Given the description of an element on the screen output the (x, y) to click on. 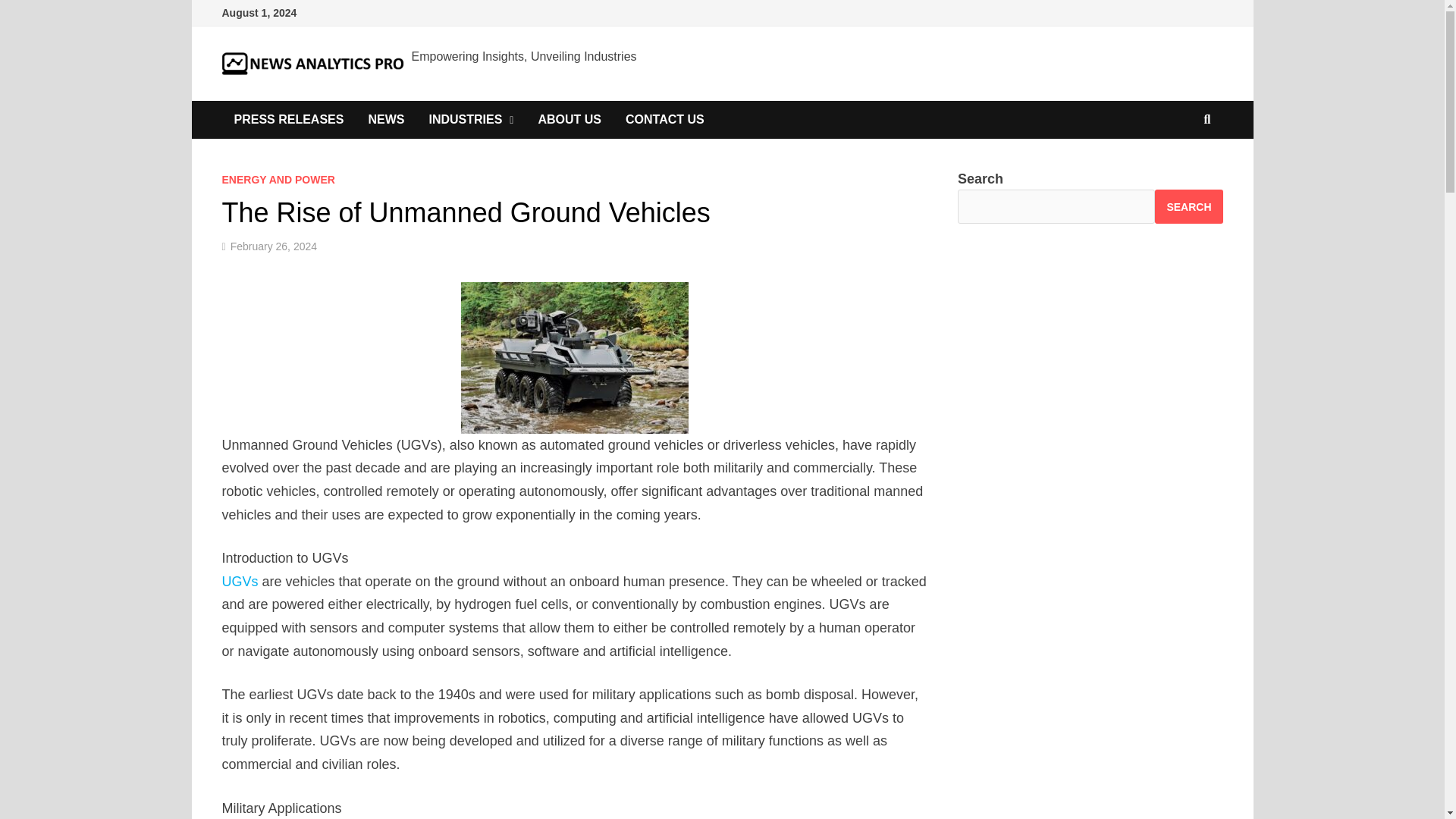
NEWS (385, 119)
PRESS RELEASES (288, 119)
CONTACT US (664, 119)
INDUSTRIES (470, 119)
ABOUT US (568, 119)
